Given the description of an element on the screen output the (x, y) to click on. 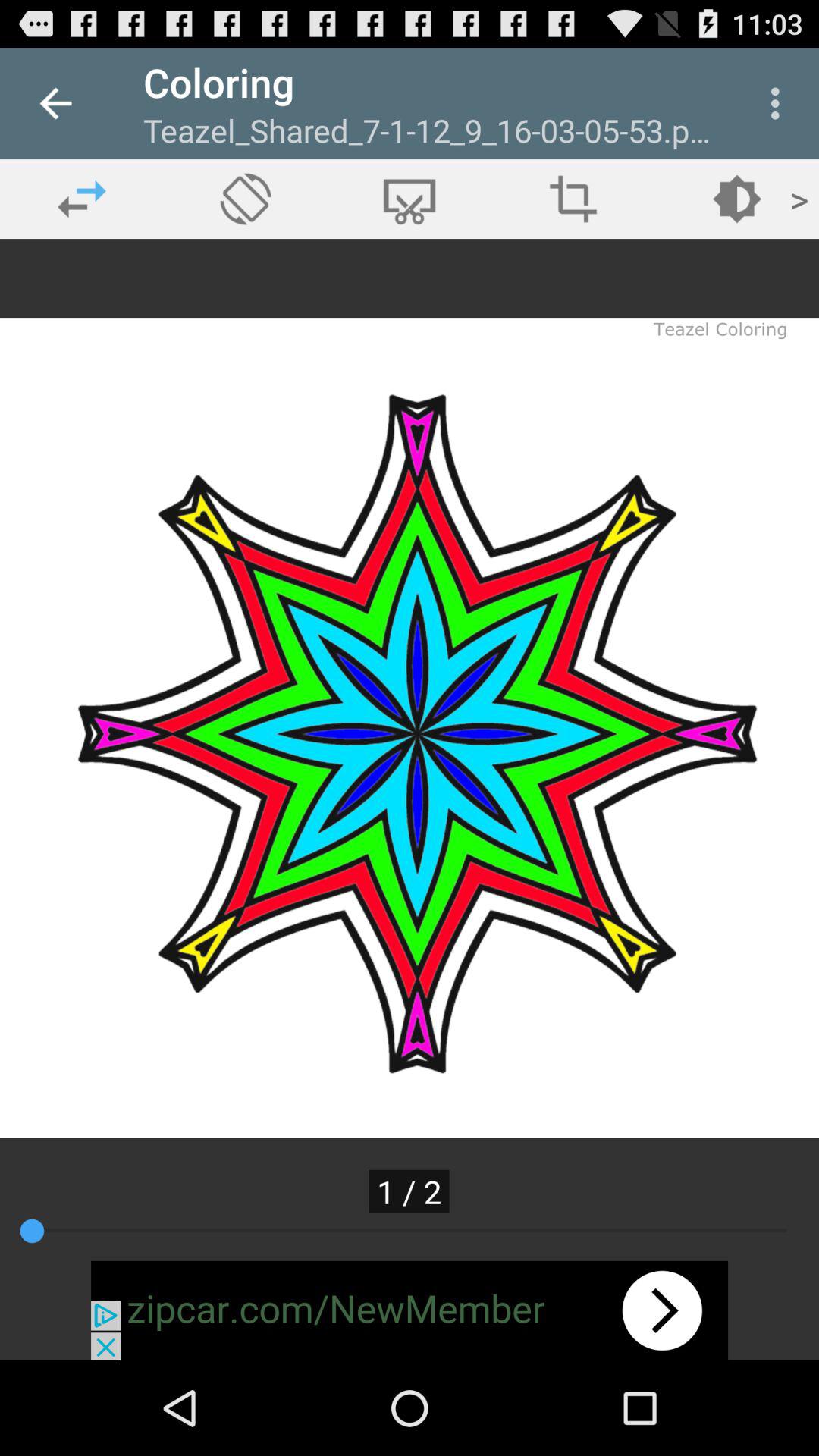
brightness button (737, 198)
